Given the description of an element on the screen output the (x, y) to click on. 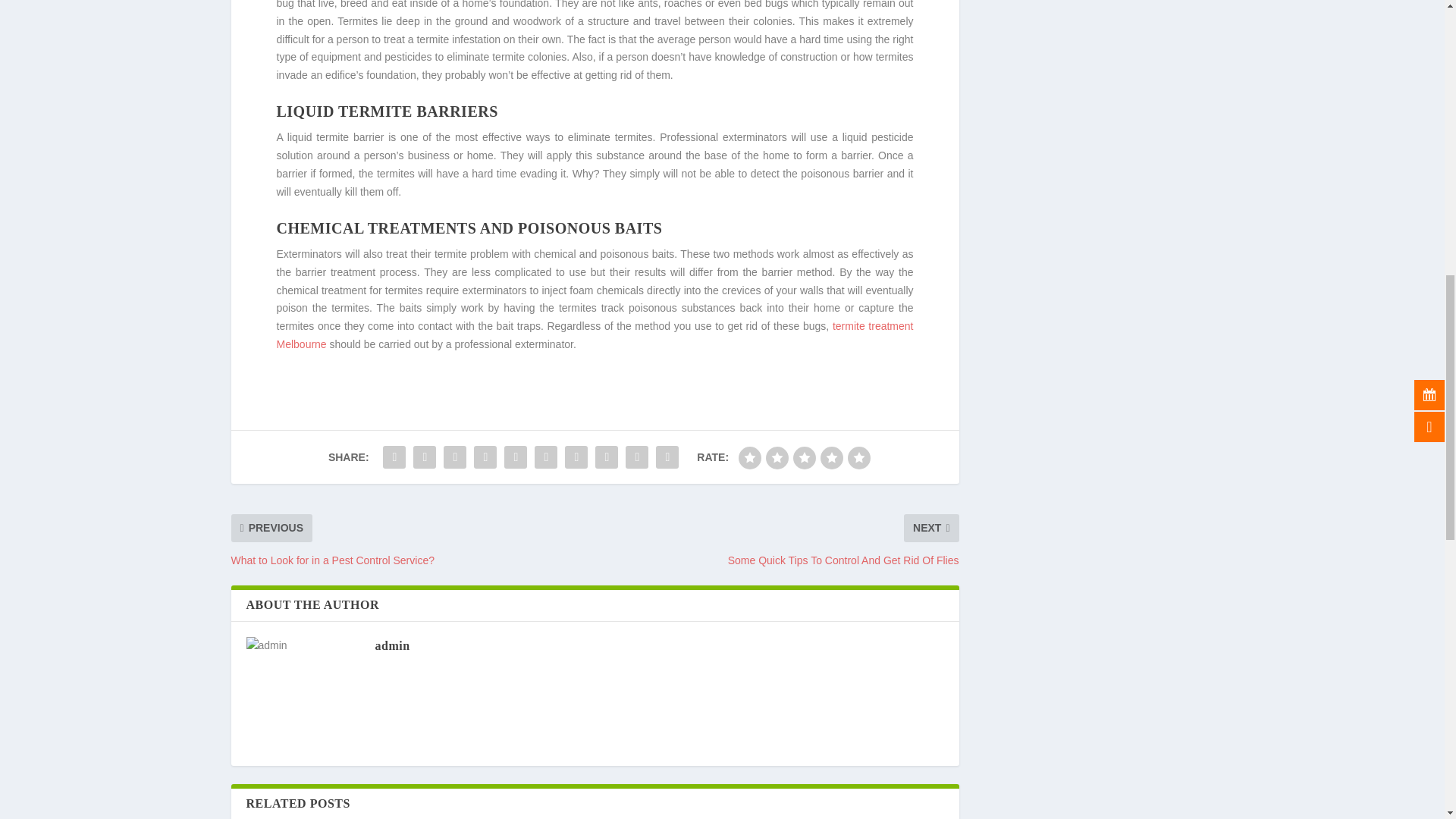
bad (749, 457)
poor (777, 457)
good (832, 457)
